Given the description of an element on the screen output the (x, y) to click on. 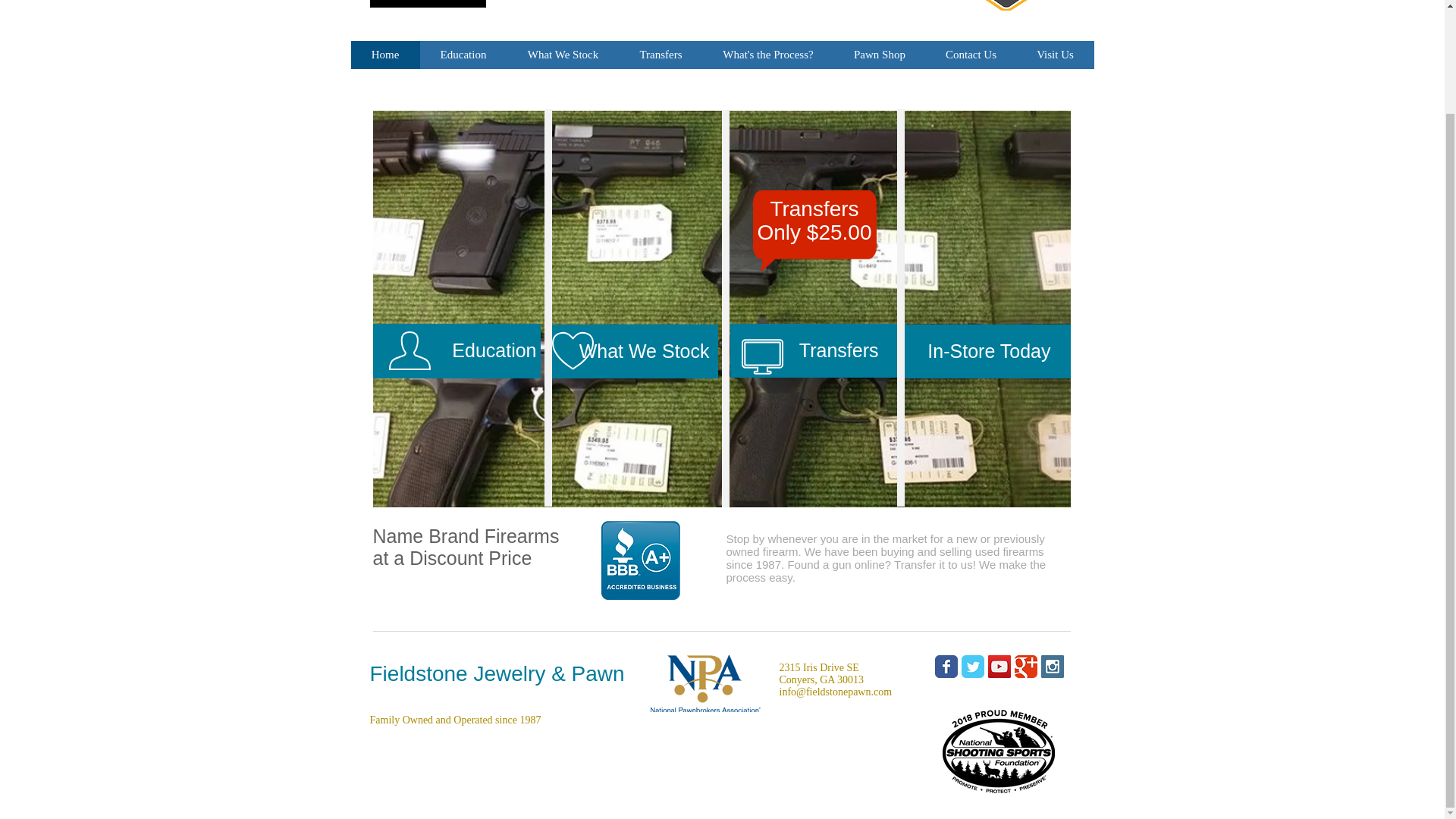
What's the Process? (766, 54)
NPALogo.png (705, 683)
Facebook Like (479, 771)
Transfers (659, 54)
Transfers (812, 350)
Family Owned and Operated since 1987 (455, 719)
Home (384, 54)
Pawn Shop (880, 54)
Education (456, 350)
What We Stock (632, 351)
